Given the description of an element on the screen output the (x, y) to click on. 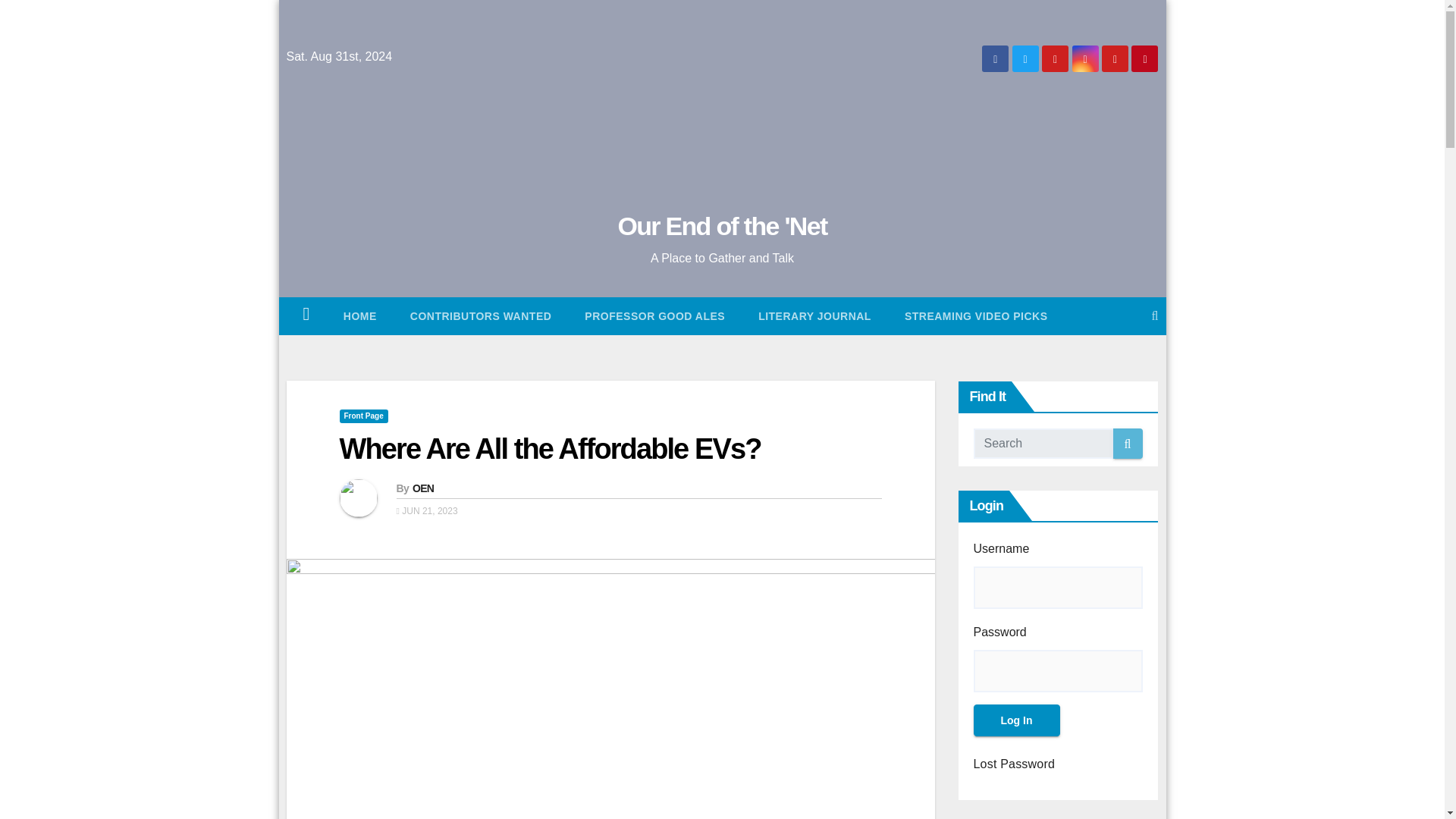
Our End of the 'Net (722, 225)
HOME (359, 315)
Home (359, 315)
Where Are All the Affordable EVs? (550, 449)
CONTRIBUTORS WANTED (481, 315)
OEN (422, 488)
Literary Journal (814, 315)
Permalink to: Where Are All the Affordable EVs? (550, 449)
Home (306, 315)
LITERARY JOURNAL (814, 315)
